Given the description of an element on the screen output the (x, y) to click on. 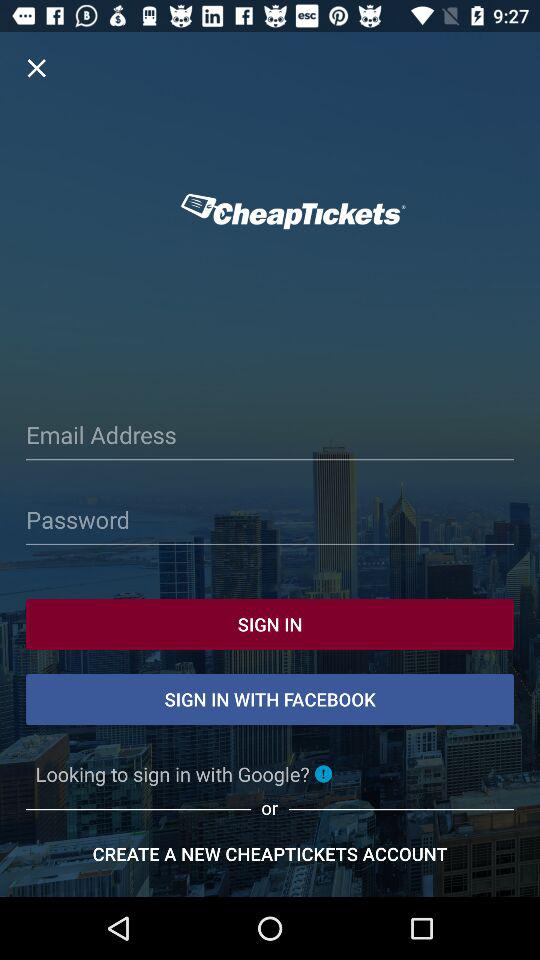
click on the text box which says password (269, 522)
select the text which is just below sign in (269, 699)
select the text box which says email address (269, 438)
select the text which is just below sign in with facebook (184, 774)
select the bottom text (269, 854)
